Given the description of an element on the screen output the (x, y) to click on. 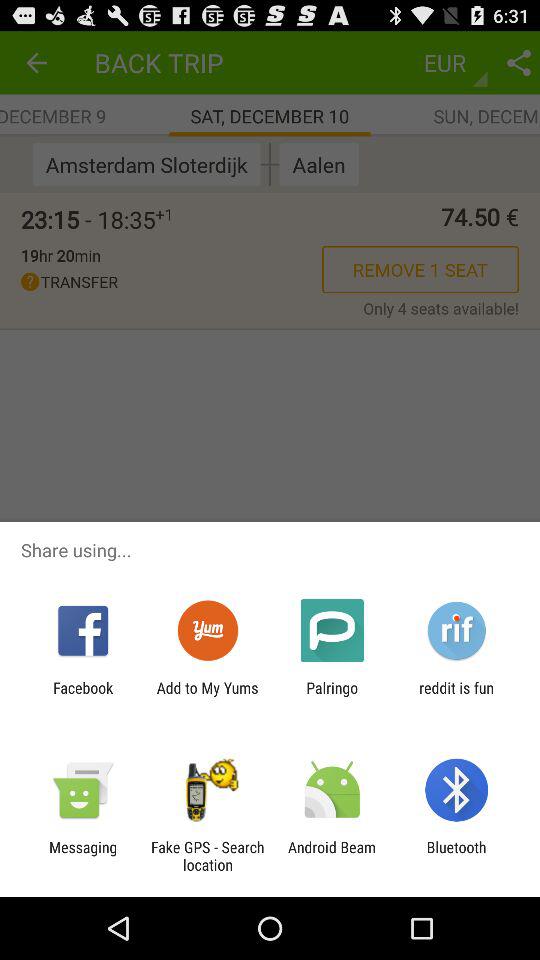
turn on the app next to the android beam (207, 856)
